Given the description of an element on the screen output the (x, y) to click on. 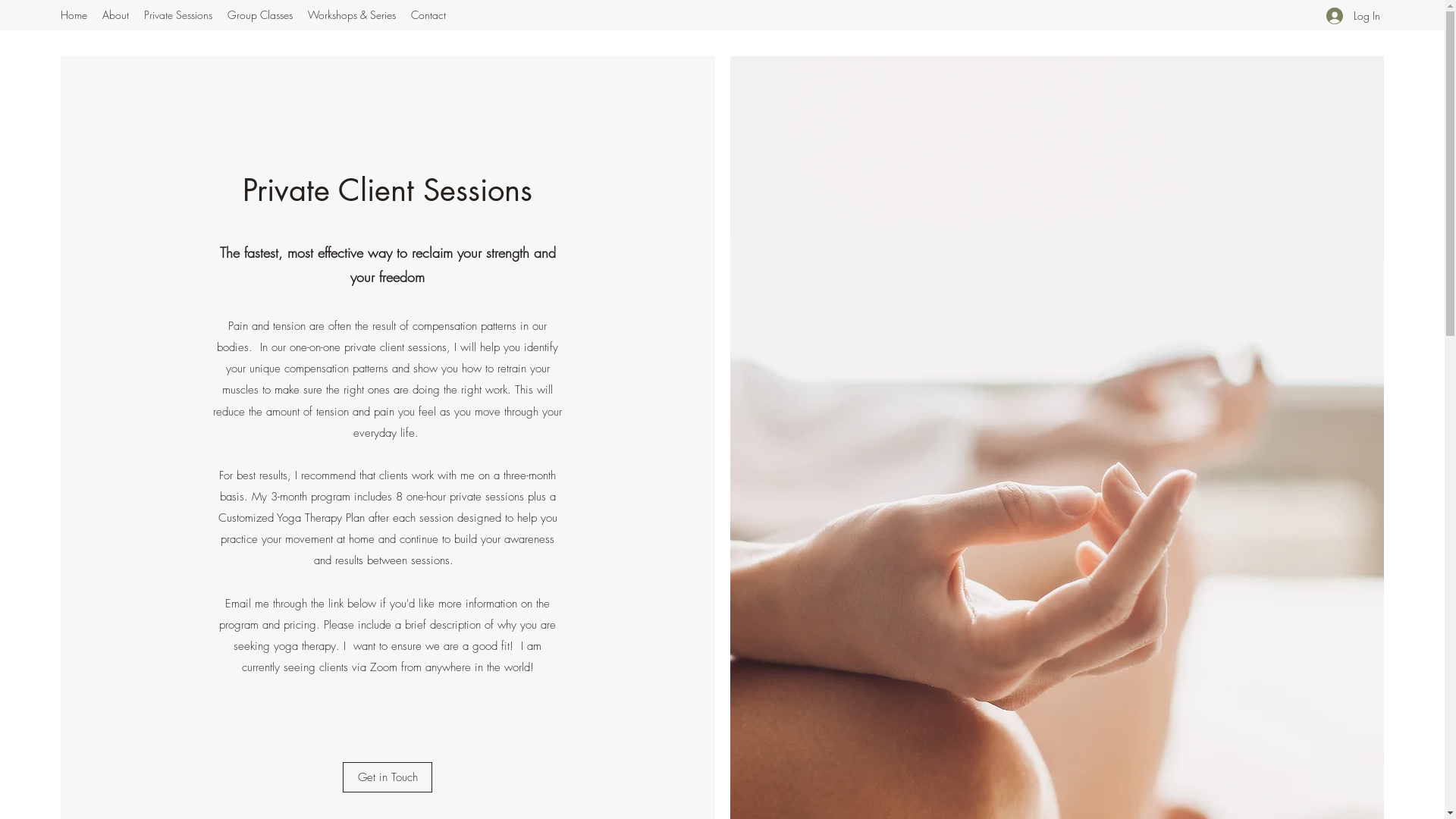
Workshops & Series Element type: text (351, 14)
Private Sessions Element type: text (177, 14)
Group Classes Element type: text (259, 14)
Contact Element type: text (428, 14)
Log In Element type: text (1349, 15)
Get in Touch Element type: text (387, 777)
About Element type: text (115, 14)
Home Element type: text (73, 14)
